Given the description of an element on the screen output the (x, y) to click on. 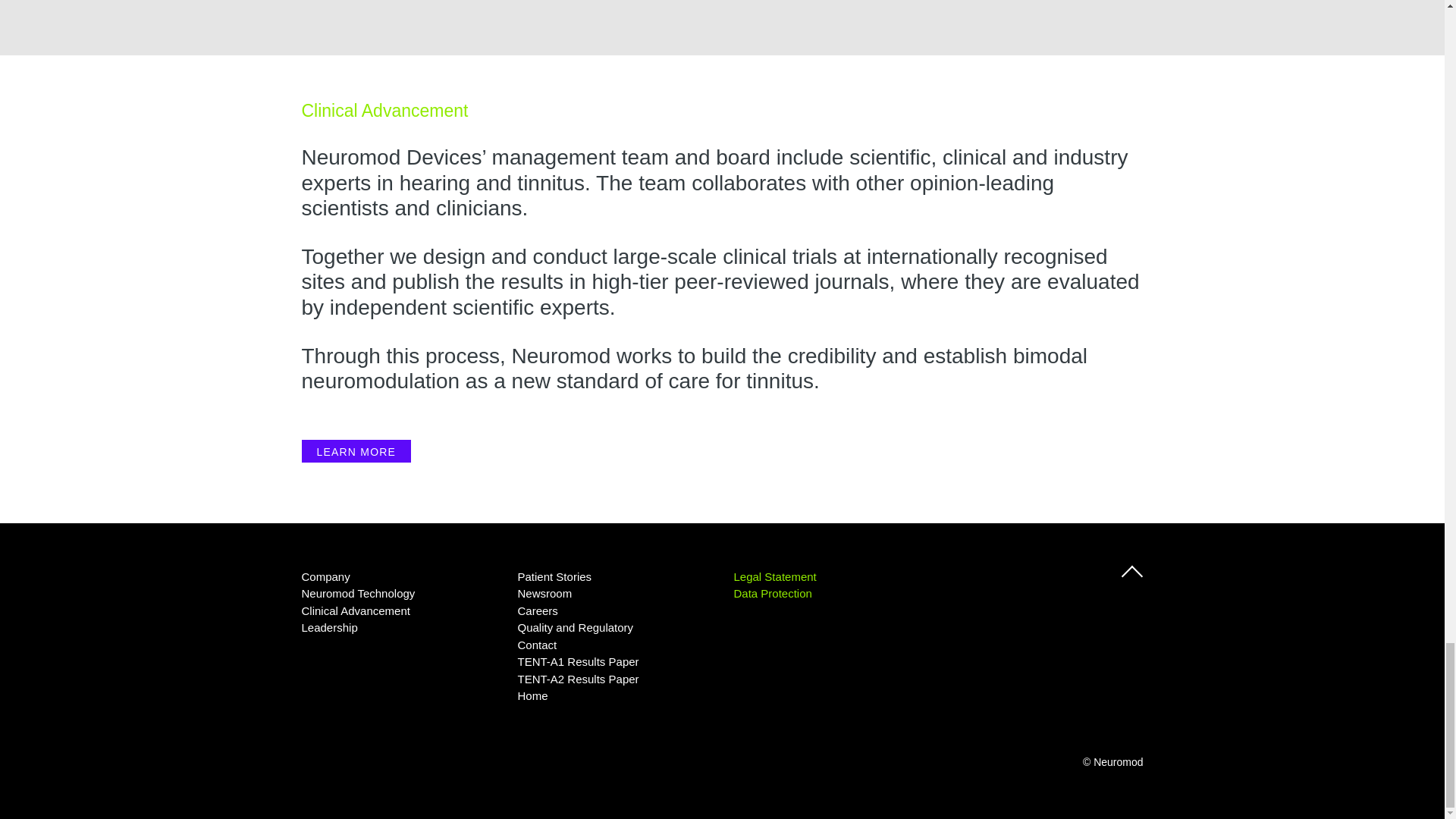
Careers (536, 610)
Patient Stories (553, 576)
LEARN MORE (356, 450)
Clinical Advancement (355, 610)
Newsroom (544, 593)
Legal Statement (774, 576)
TENT-A1 Results Paper (577, 661)
TENT-A2 Results Paper (577, 678)
Neuromod Technology (357, 593)
Company (325, 576)
Quality and Regulatory (574, 626)
Leadership (329, 626)
Home (531, 695)
Contact (536, 644)
